Given the description of an element on the screen output the (x, y) to click on. 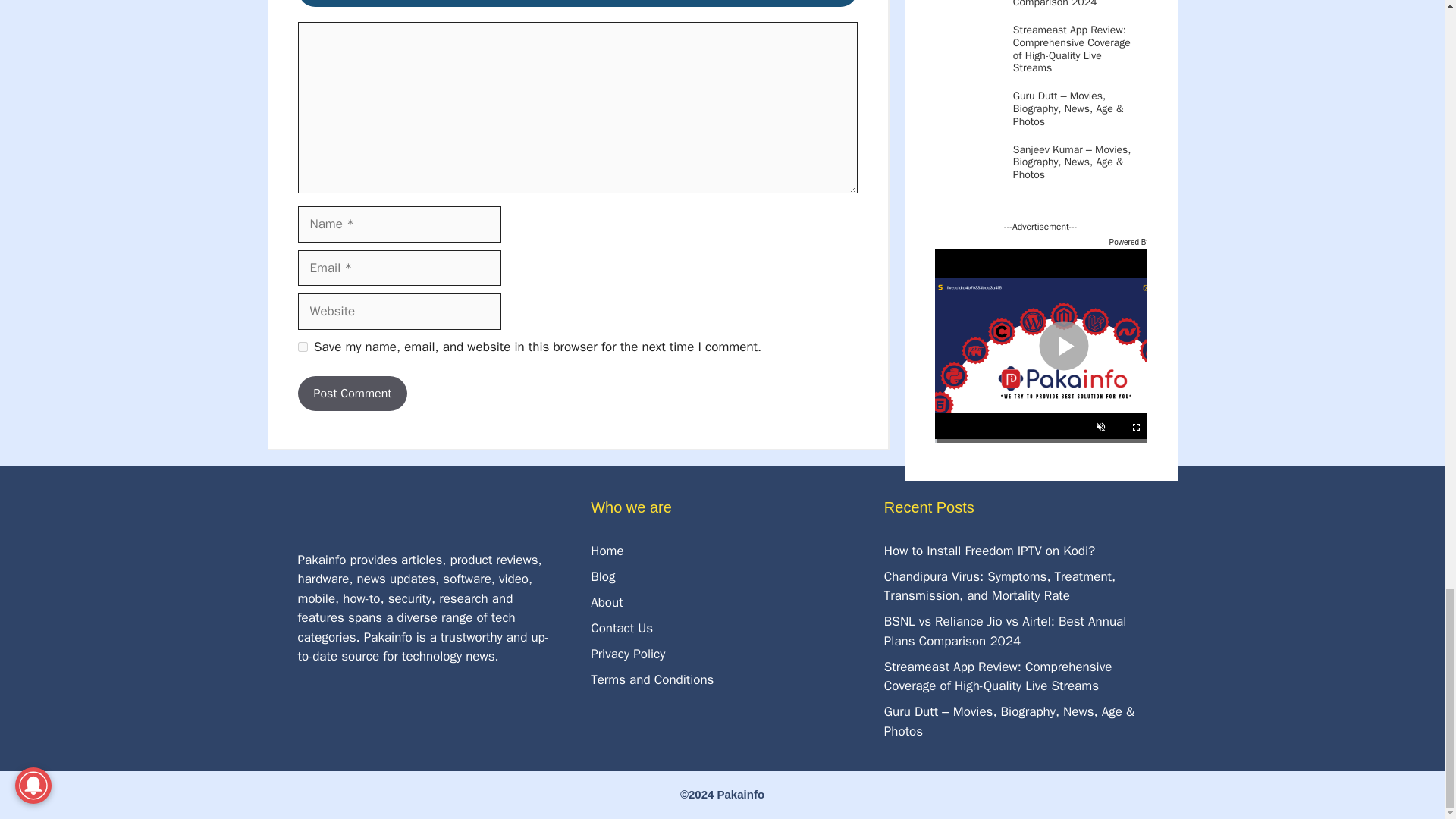
Post Comment (352, 393)
yes (302, 347)
